Given the description of an element on the screen output the (x, y) to click on. 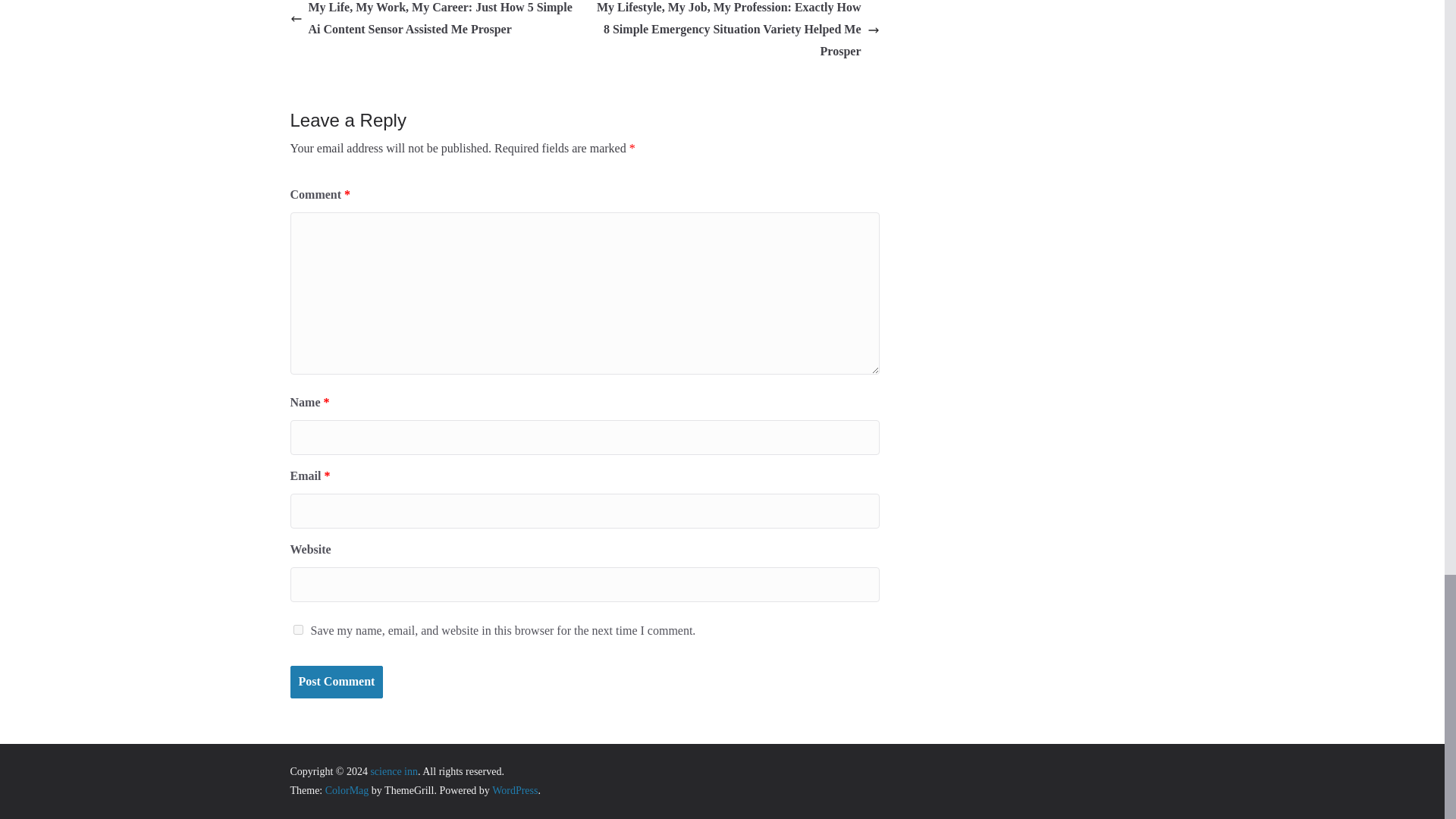
WordPress (514, 790)
science inn (393, 771)
Post Comment (335, 681)
science inn (393, 771)
ColorMag (346, 790)
Post Comment (335, 681)
ColorMag (346, 790)
WordPress (514, 790)
